Given the description of an element on the screen output the (x, y) to click on. 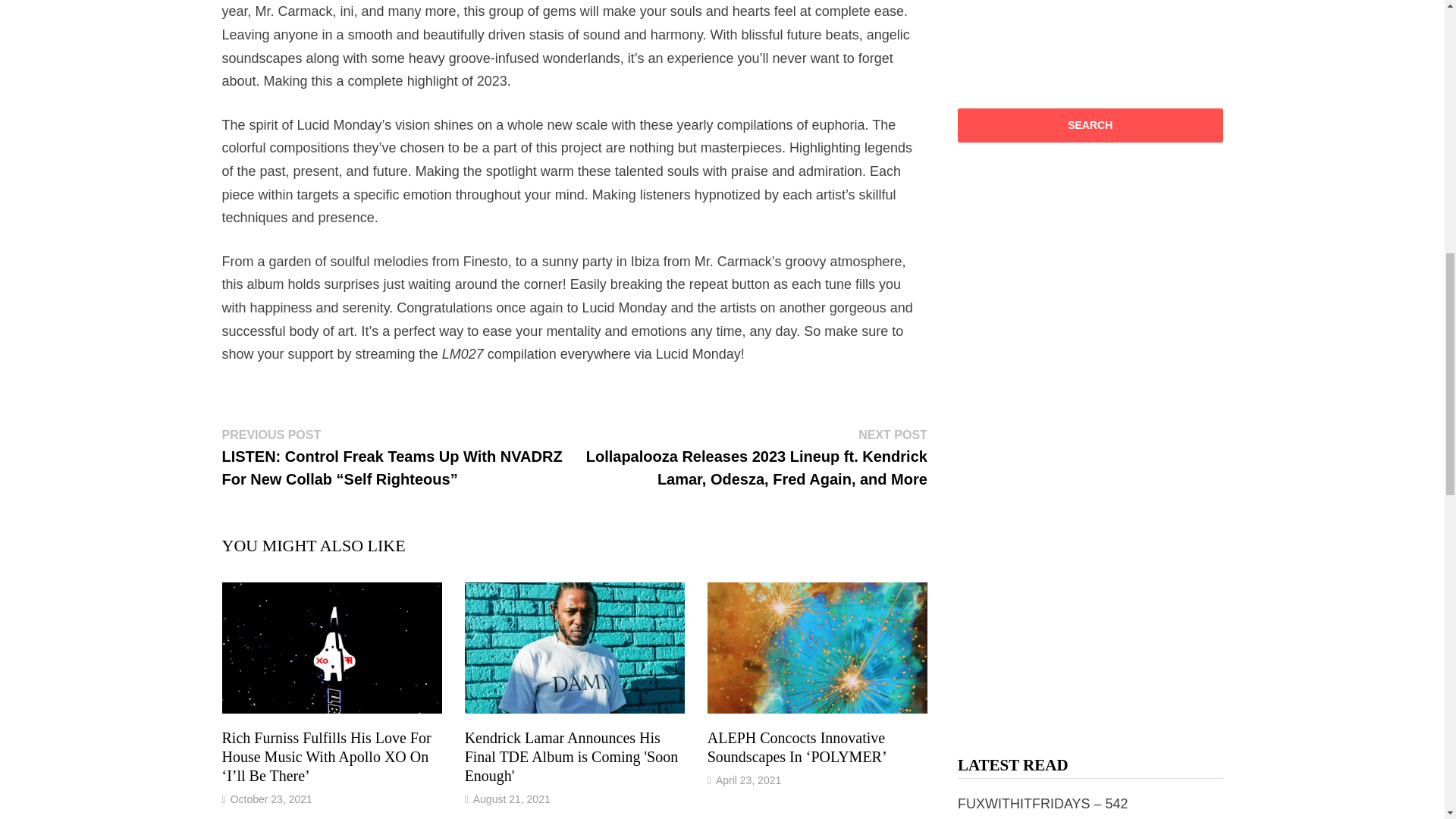
Search (1090, 125)
Advertisement (1105, 28)
Search (1090, 125)
Search (1090, 125)
August 21, 2021 (511, 799)
April 23, 2021 (748, 779)
October 23, 2021 (271, 799)
